Given the description of an element on the screen output the (x, y) to click on. 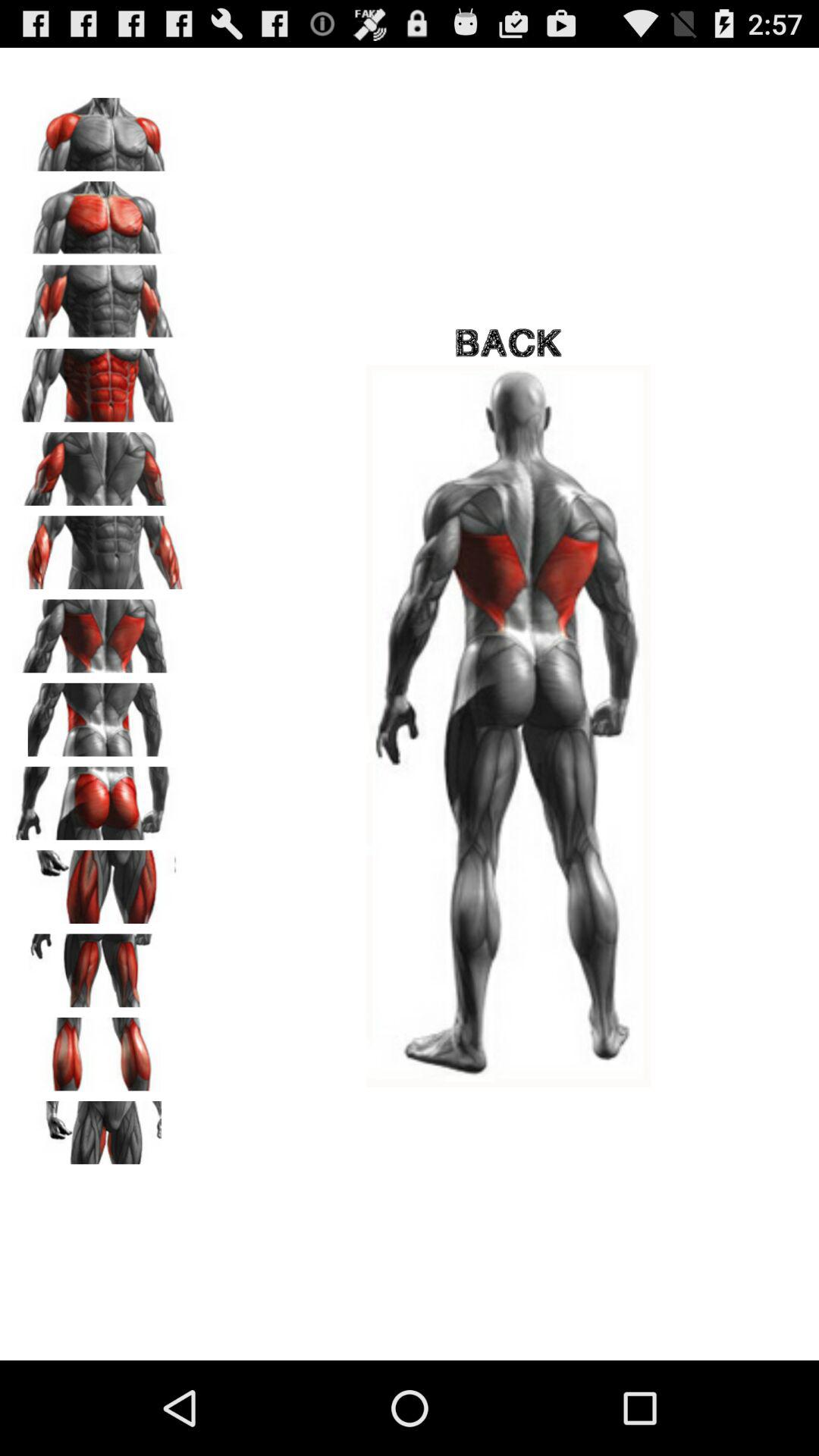
see upper thigh exercises (99, 1132)
